Given the description of an element on the screen output the (x, y) to click on. 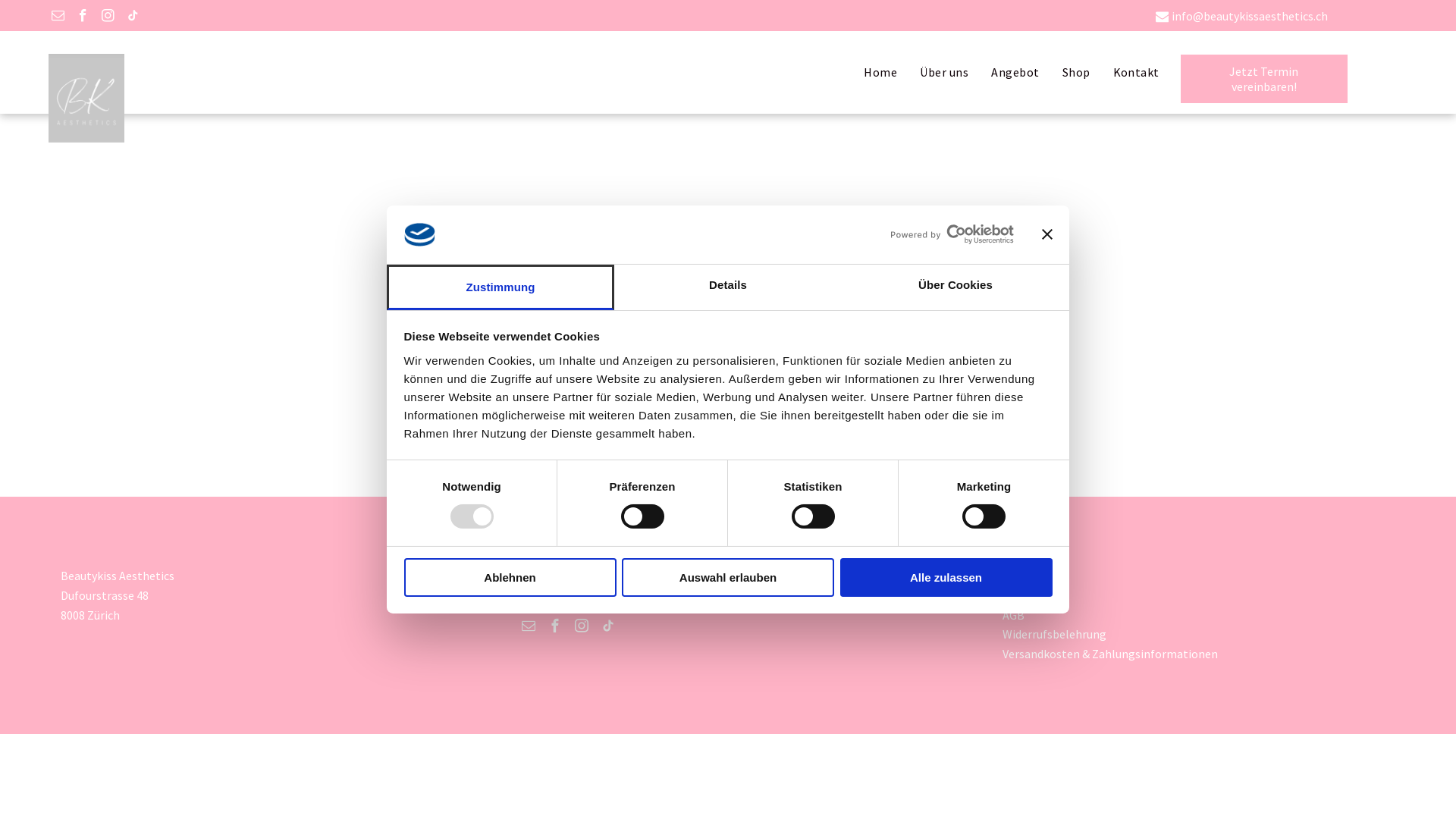
Kontakt Element type: text (1135, 72)
Shop Element type: text (1076, 72)
Widerrufsbelehrung Element type: text (1054, 633)
Versandkosten & Zahlungsinformationen Element type: text (1109, 653)
Jetzt Termin vereinbaren! Element type: text (1263, 70)
Datenschutz Element type: text (1035, 594)
+41786901474 Element type: text (573, 575)
Angebot Element type: text (1014, 72)
Ablehnen Element type: text (509, 577)
Details Element type: text (727, 287)
Home Element type: text (880, 72)
Impressum Element type: text (1031, 575)
Logo | Beautykiss Aesthetics Element type: hover (86, 97)
Zustimmung Element type: text (500, 287)
Alle zulassen Element type: text (946, 577)
Auswahl erlauben Element type: text (727, 577)
AGB Element type: text (1013, 614)
Zur Startseite Element type: text (727, 454)
info@beautykissaesthetics.ch Element type: text (1249, 15)
info@beautykissaesthetics.ch Element type: text (614, 597)
